Given the description of an element on the screen output the (x, y) to click on. 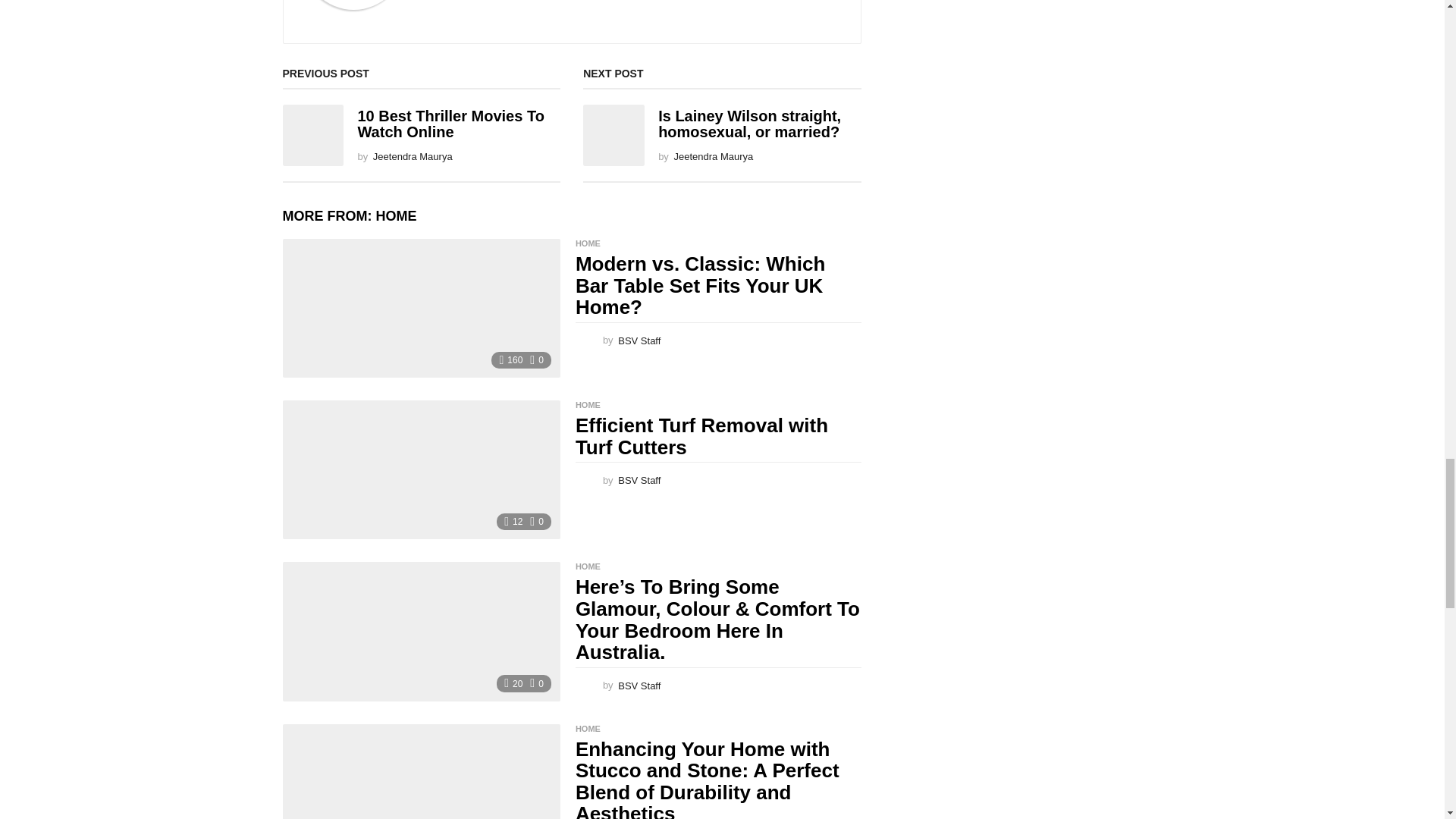
Modern vs. Classic: Which Bar Table Set Fits Your UK Home? (420, 308)
Efficient Turf Removal with Turf Cutters (420, 469)
